Given the description of an element on the screen output the (x, y) to click on. 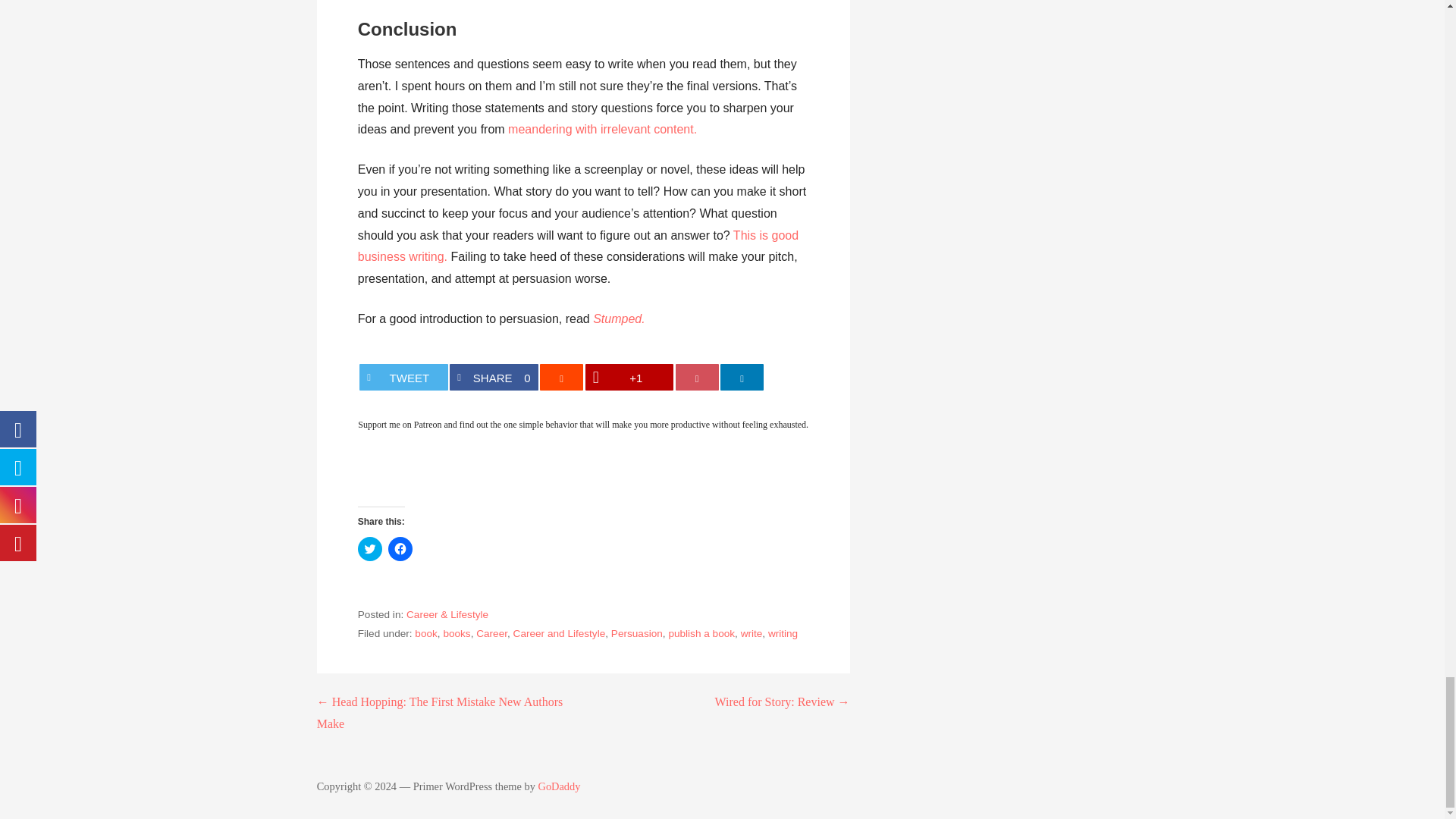
meandering with irrelevant content. (602, 128)
Stumped. (618, 318)
This is good business writing. (493, 376)
TWEET (577, 246)
Share on Facebook (402, 376)
Submit to Reddit (493, 376)
The 5 Simplest Ways to Improve Your Writing Skills (561, 376)
Tweet on Twitter (602, 128)
Writing Without Bullshit: Review (402, 376)
